Given the description of an element on the screen output the (x, y) to click on. 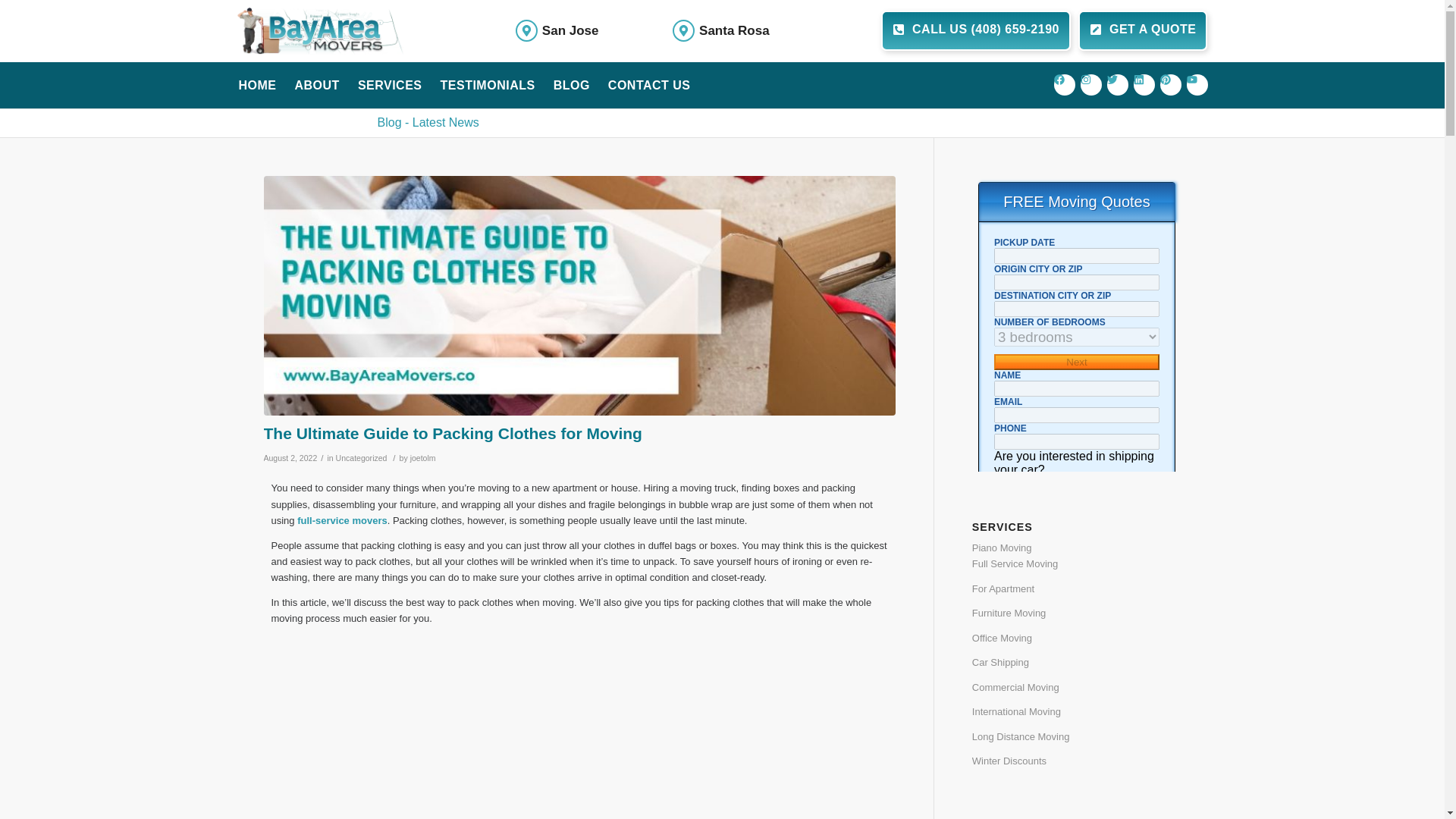
ABOUT (316, 85)
GET A QUOTE (1143, 30)
YouTube video player (579, 727)
Santa Rosa (734, 30)
SERVICES (389, 85)
San Jose (569, 30)
Permanent Link: Blog - Latest News (428, 122)
Posts by joetolm (422, 457)
TESTIMONIALS (488, 85)
CONTACT US (650, 85)
